Given the description of an element on the screen output the (x, y) to click on. 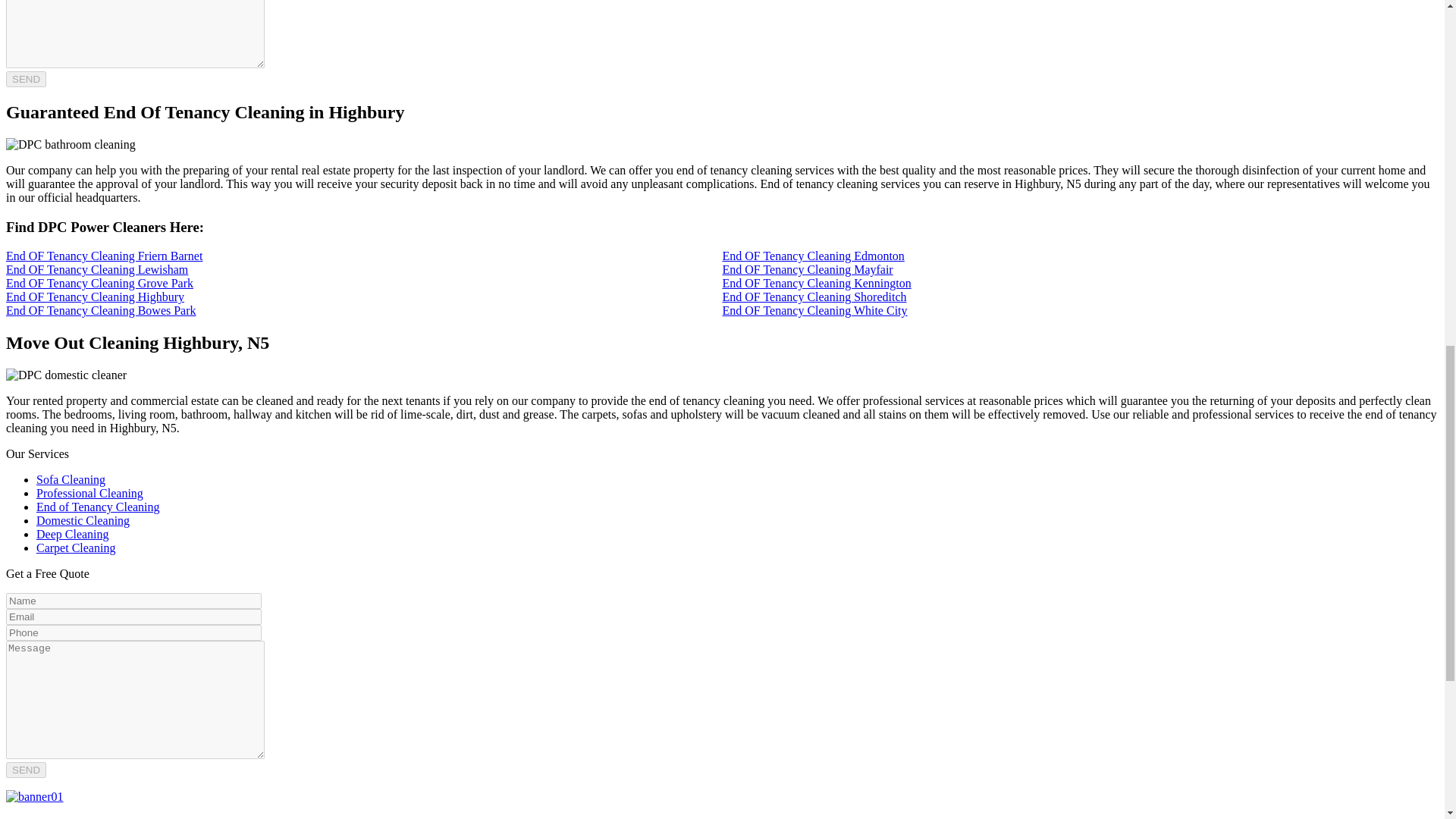
Domestic Cleaning (82, 520)
SEND (25, 770)
SE12 End OF Tenancy Cleaning Grove Park (99, 282)
End OF Tenancy Cleaning Lewisham (96, 269)
End of Tenancy Cleaning (98, 506)
Deep Cleaning (72, 533)
E2 End OF Tenancy Cleaning Shoreditch (813, 296)
End OF Tenancy Cleaning Shoreditch (813, 296)
SE13 End OF Tenancy Cleaning Lewisham (96, 269)
N11 End OF Tenancy Cleaning Friern Barnet (103, 255)
SEND (25, 78)
N9 End OF Tenancy Cleaning Edmonton (813, 255)
End OF Tenancy Cleaning White City (814, 309)
SEND (25, 78)
End OF Tenancy Cleaning Friern Barnet (103, 255)
